Given the description of an element on the screen output the (x, y) to click on. 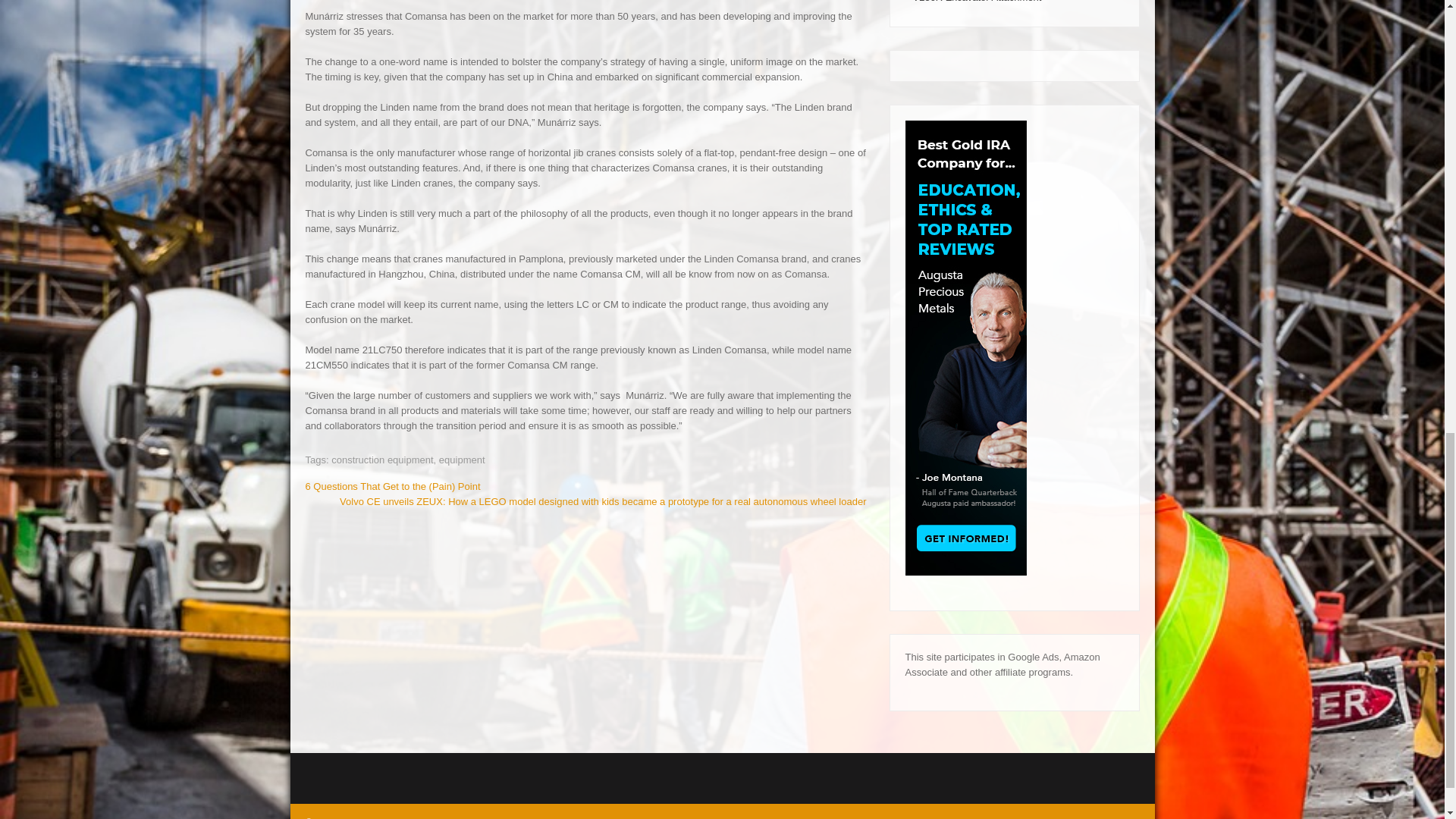
equipment (461, 460)
construction equipment (381, 460)
